Given the description of an element on the screen output the (x, y) to click on. 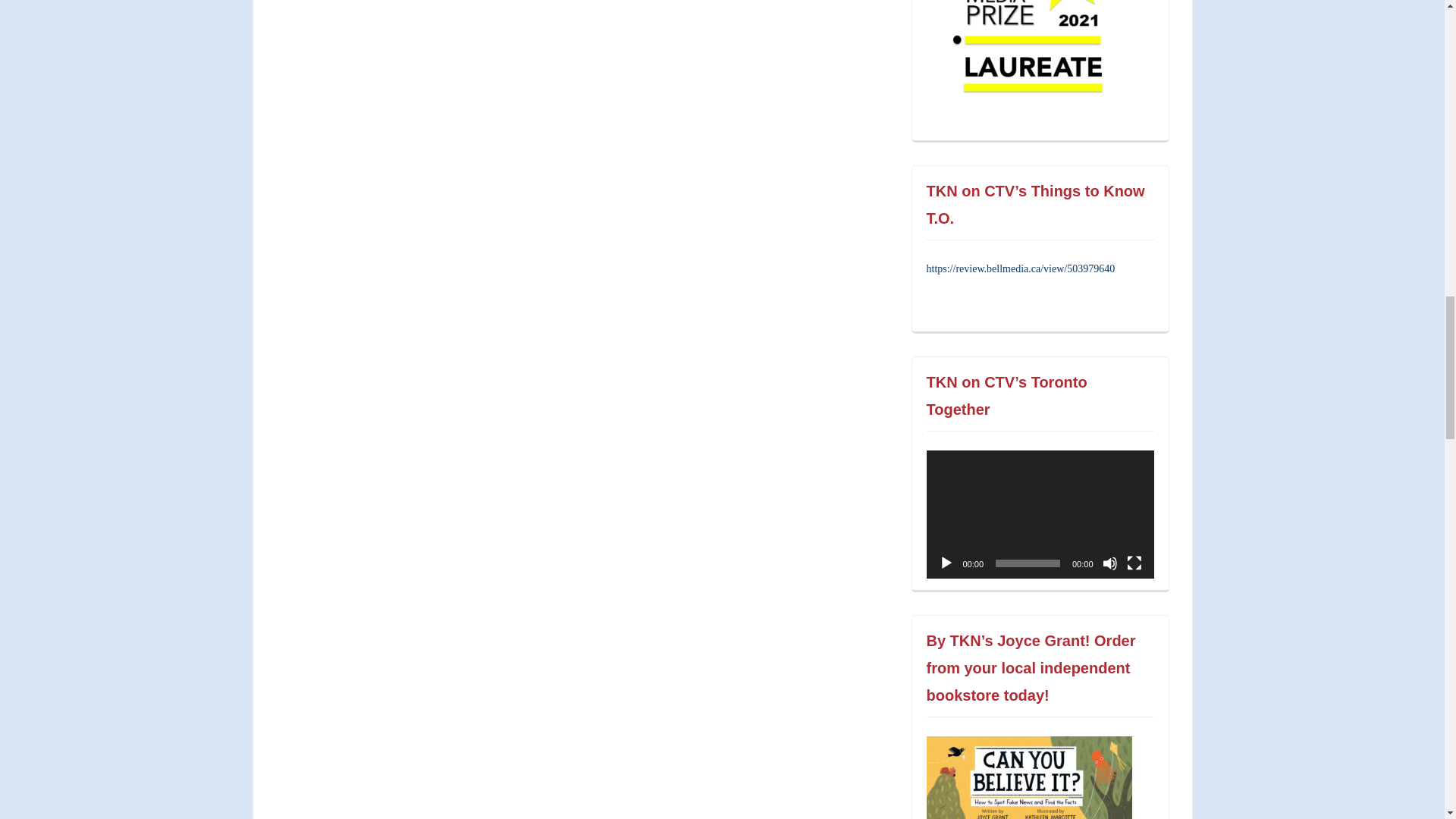
Play (946, 563)
